Given the description of an element on the screen output the (x, y) to click on. 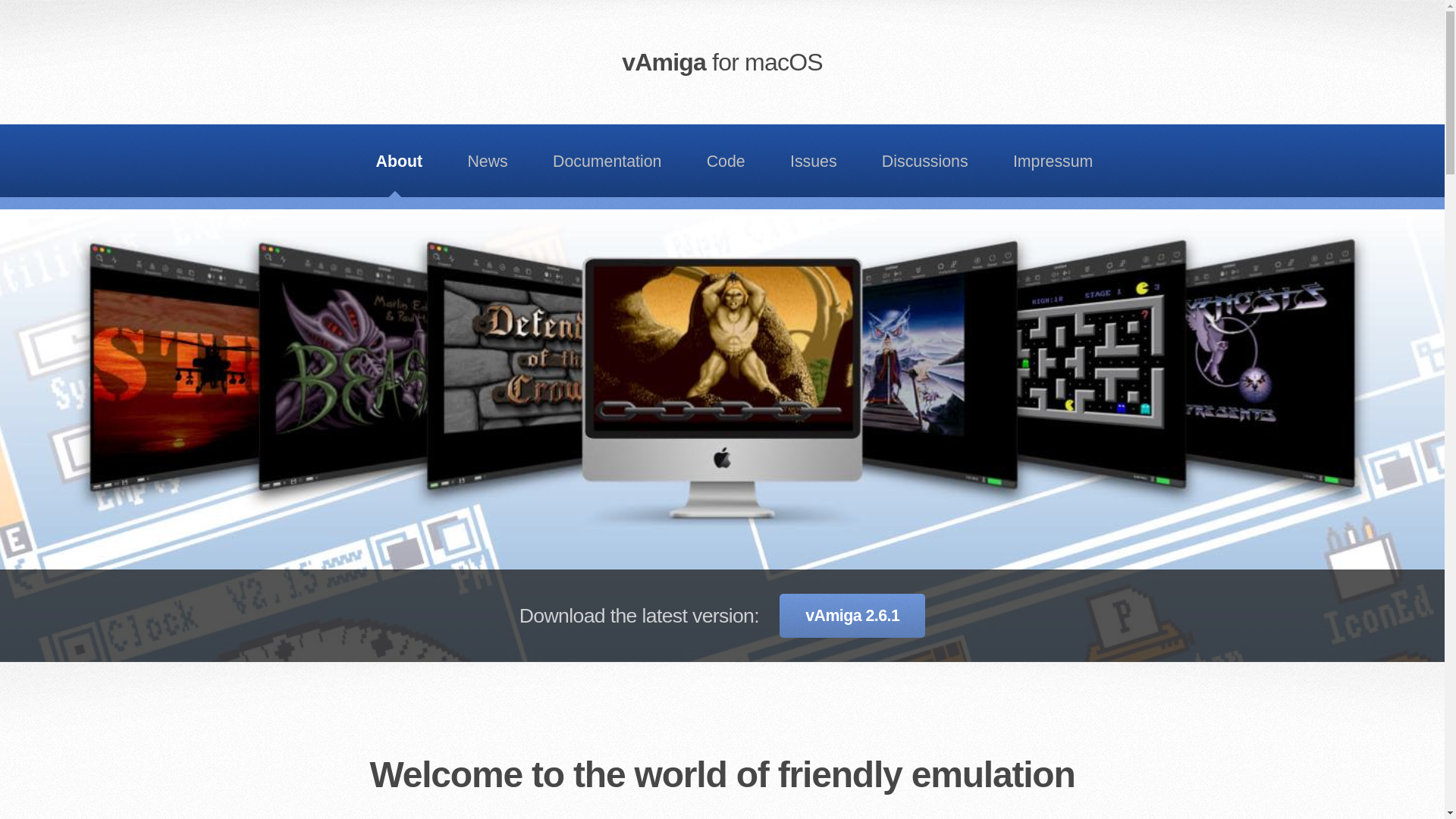
Documentation (606, 160)
Discussions (924, 160)
vAmiga 2.6.1 (851, 615)
vAmiga for macOS (721, 62)
Impressum (1052, 160)
